Given the description of an element on the screen output the (x, y) to click on. 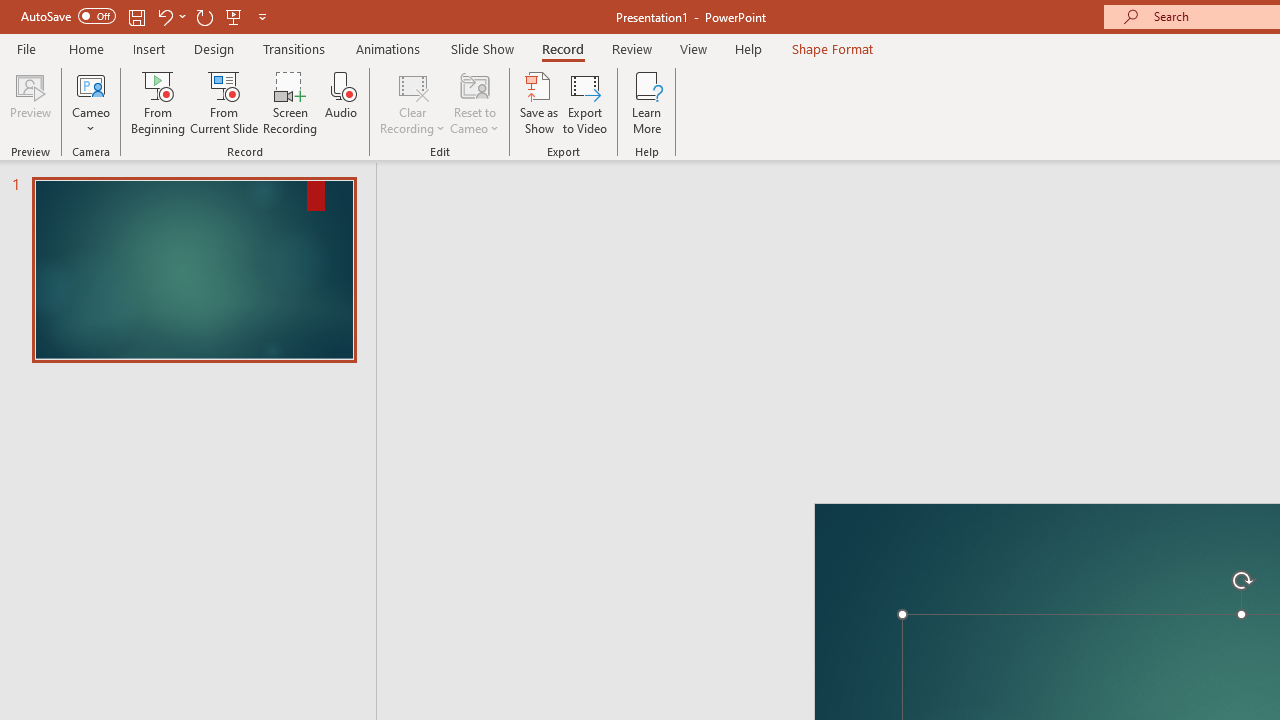
Animations (388, 48)
Clear Recording (412, 102)
Undo (170, 15)
From Current Slide... (224, 102)
Slide Show (481, 48)
System (10, 11)
Undo (164, 15)
From Beginning... (158, 102)
File Tab (26, 48)
Export to Video (585, 102)
Transitions (294, 48)
Preview (30, 102)
Shape Format (832, 48)
More Options (91, 121)
